Given the description of an element on the screen output the (x, y) to click on. 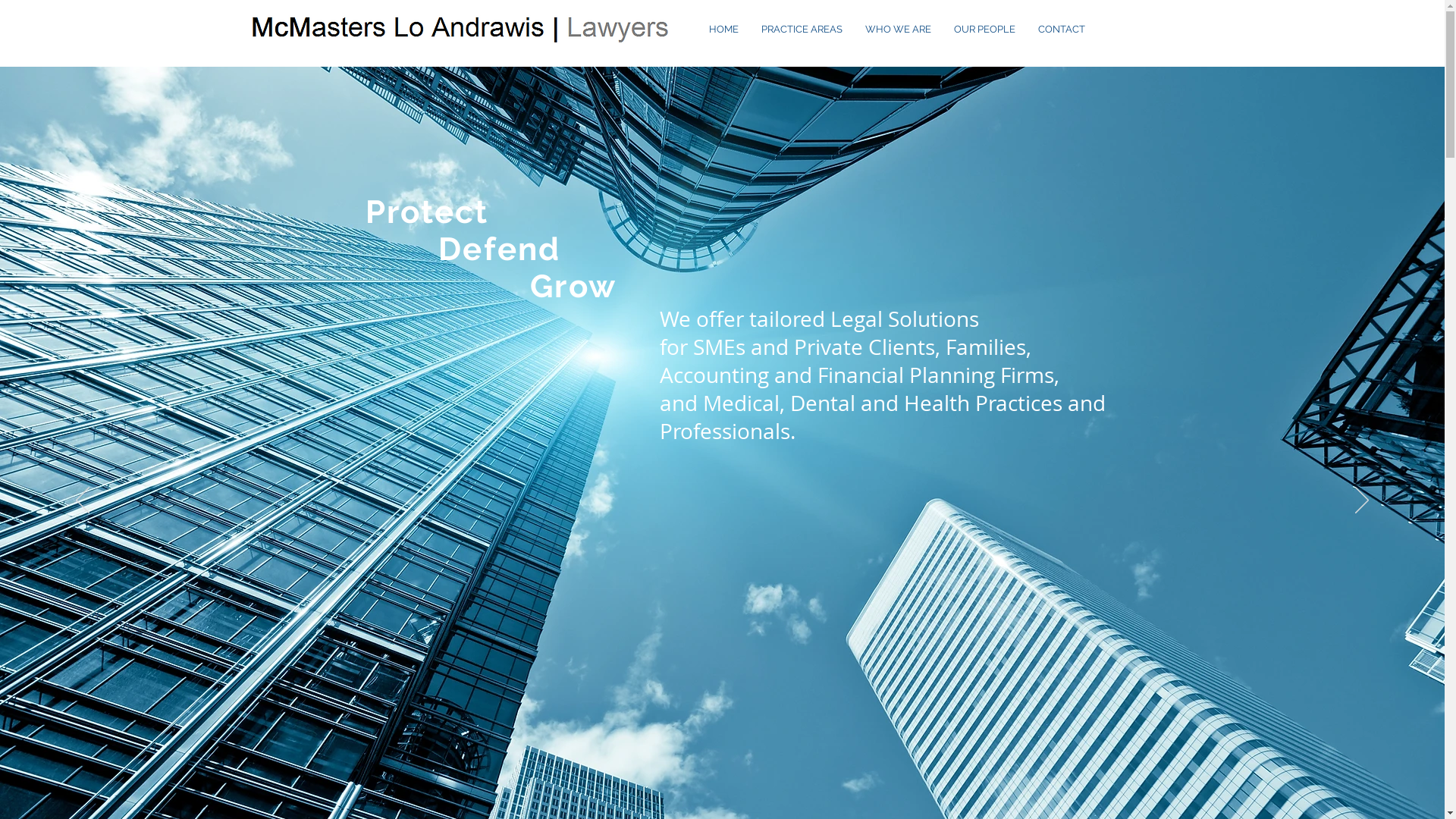
HOME Element type: text (723, 29)
CONTACT Element type: text (1061, 29)
Logo_edited.png Element type: hover (456, 28)
WHO WE ARE Element type: text (897, 29)
PRACTICE AREAS Element type: text (801, 29)
OUR PEOPLE Element type: text (983, 29)
